Given the description of an element on the screen output the (x, y) to click on. 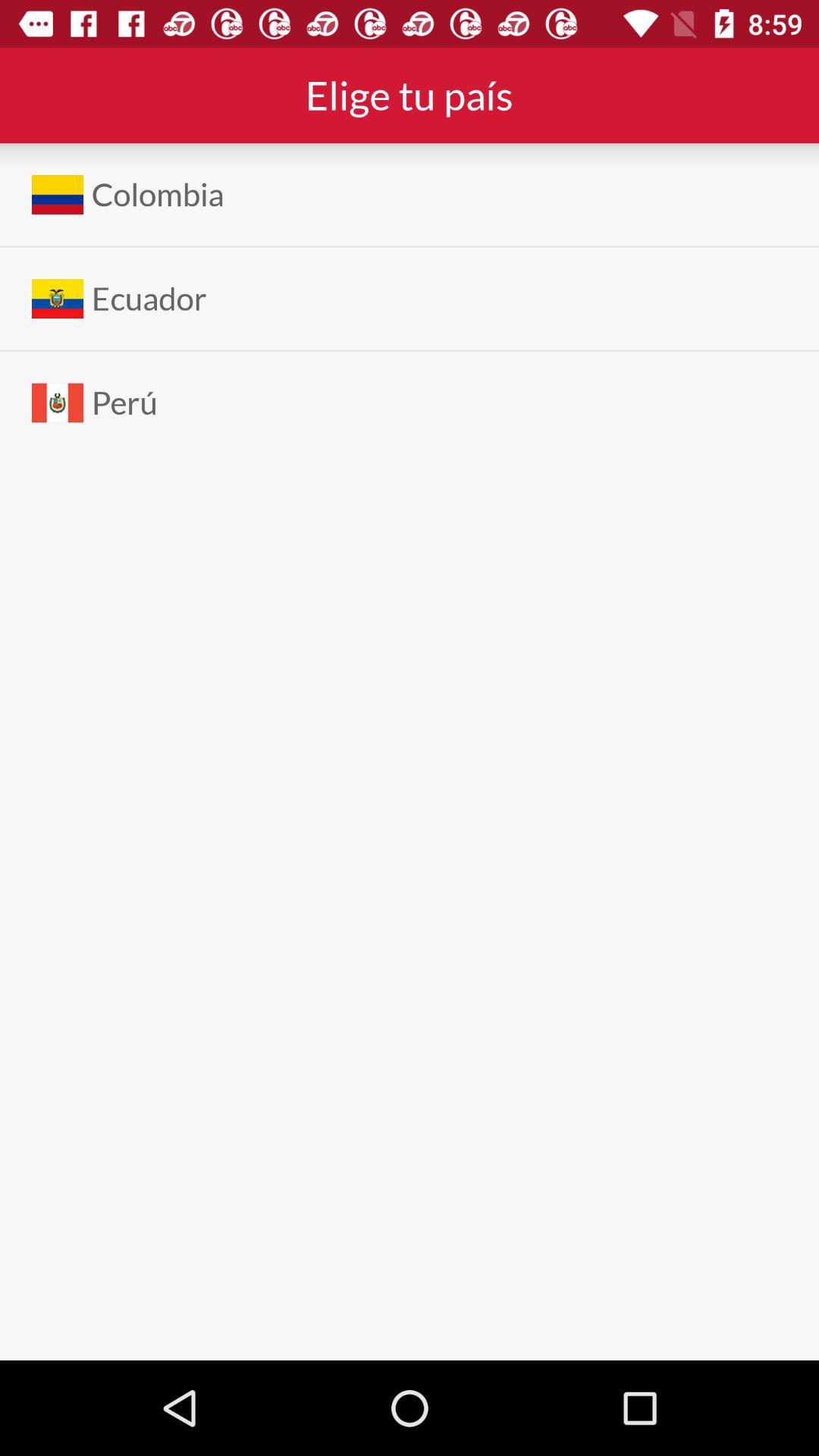
tap colombia item (157, 194)
